Given the description of an element on the screen output the (x, y) to click on. 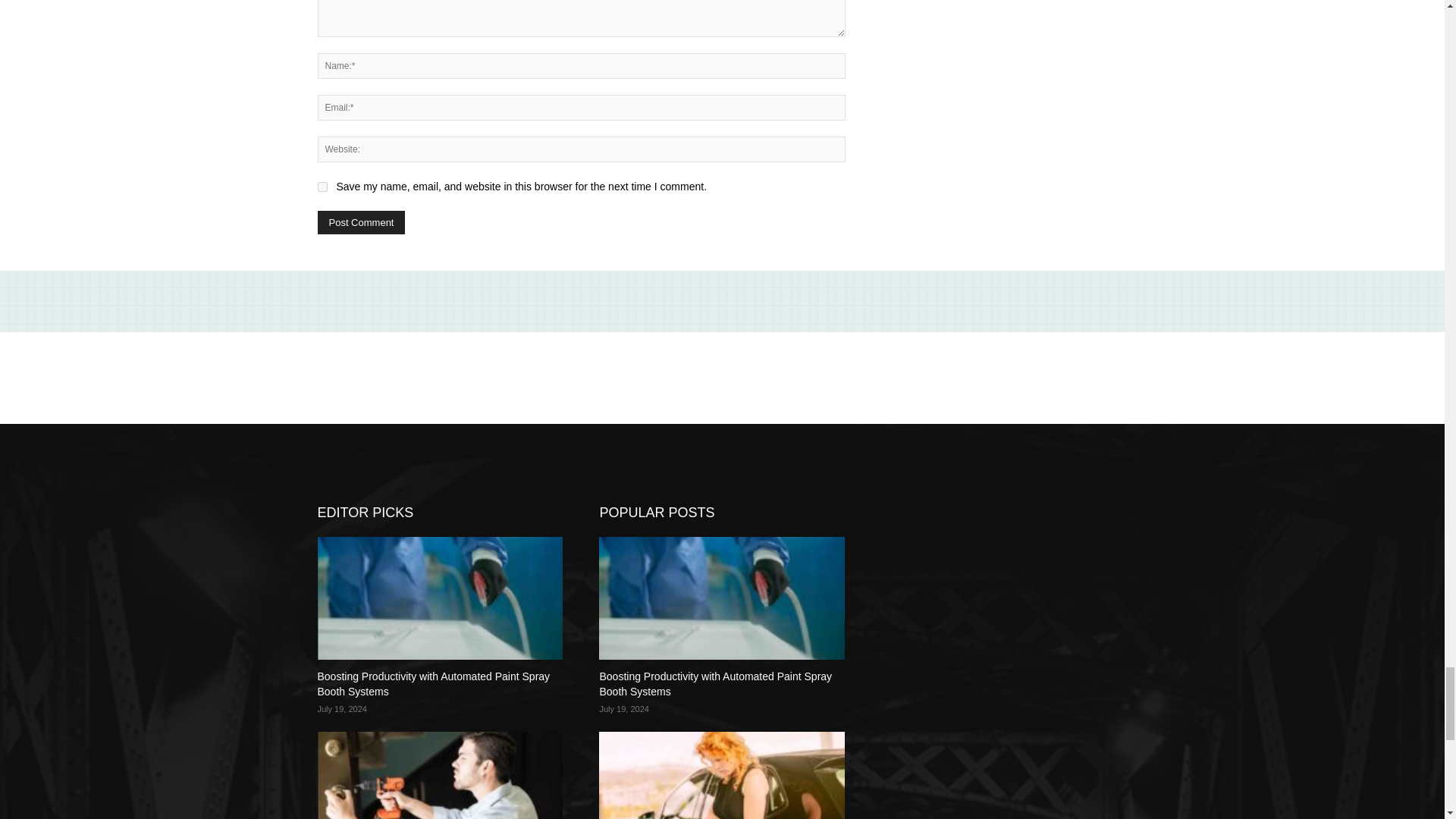
yes (321, 186)
Post Comment (360, 222)
